Given the description of an element on the screen output the (x, y) to click on. 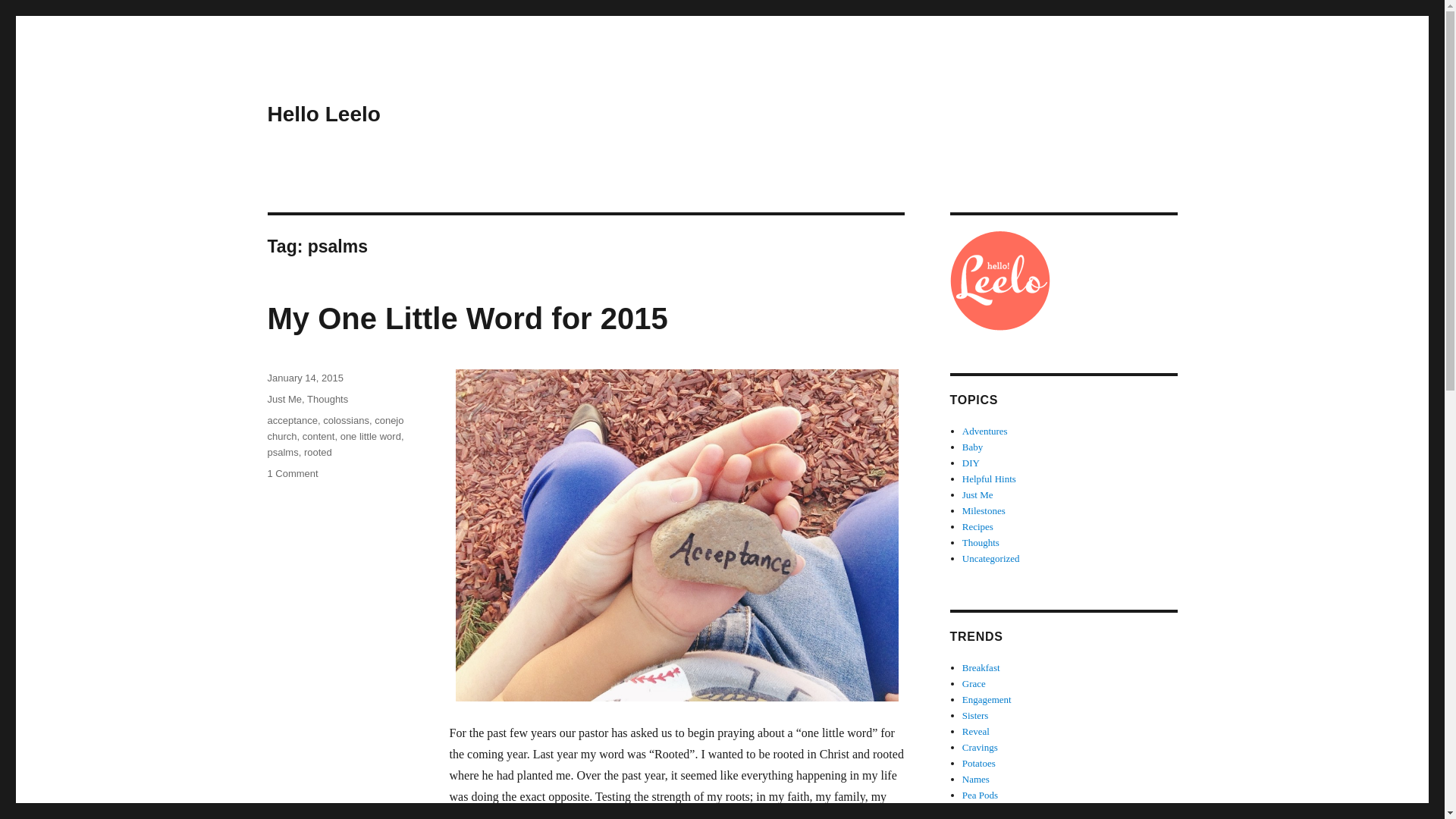
Engagement (986, 699)
Recipes (977, 526)
Adventures (984, 430)
Helpful Hints (989, 478)
Grace (973, 683)
Baby (972, 446)
Sisters (975, 715)
Reveal (976, 731)
conejo church (334, 428)
Milestones (984, 510)
